Given the description of an element on the screen output the (x, y) to click on. 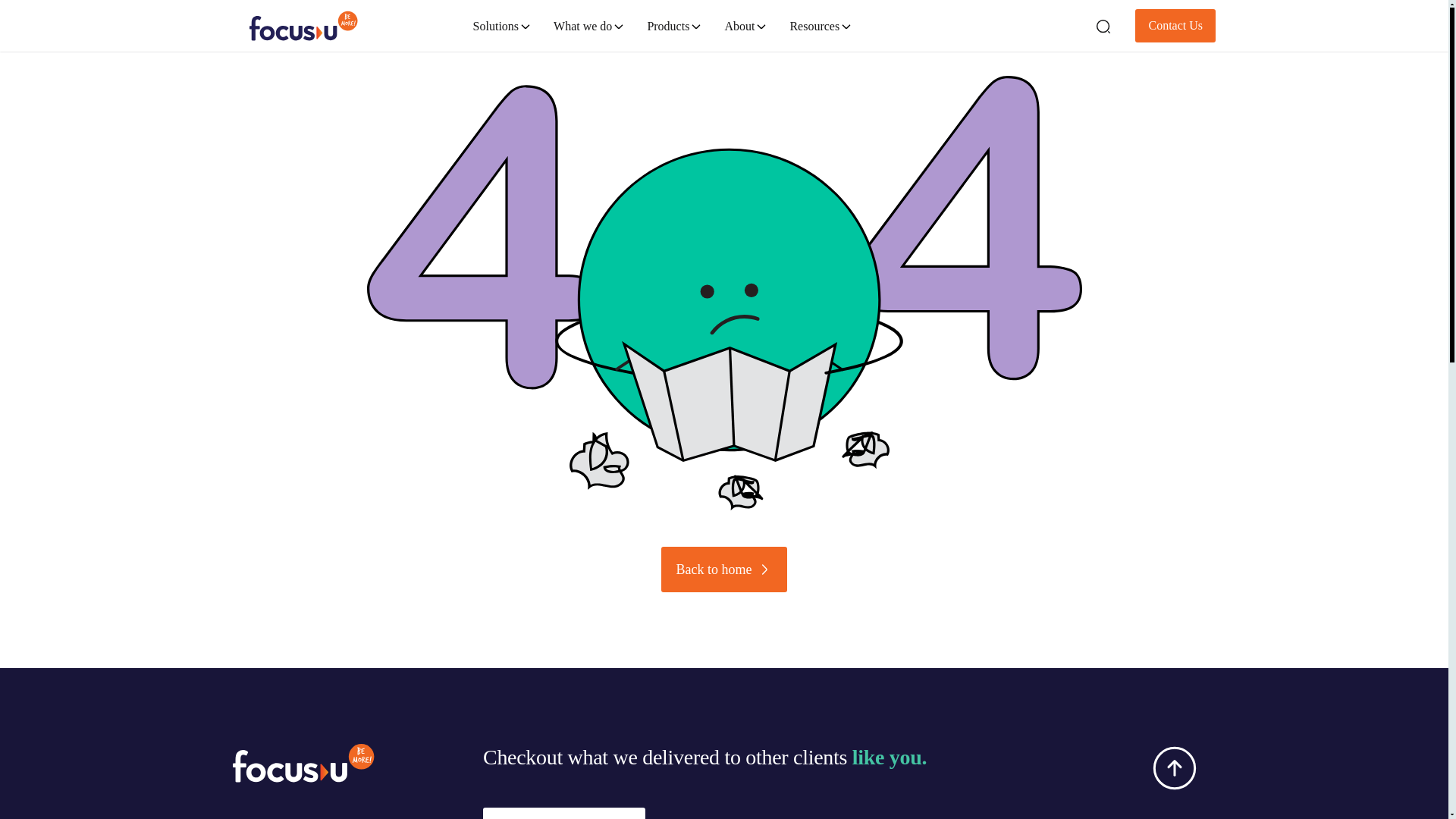
About (744, 25)
Resources (819, 25)
Products (673, 24)
What we do (588, 16)
Focus U (255, 3)
